Given the description of an element on the screen output the (x, y) to click on. 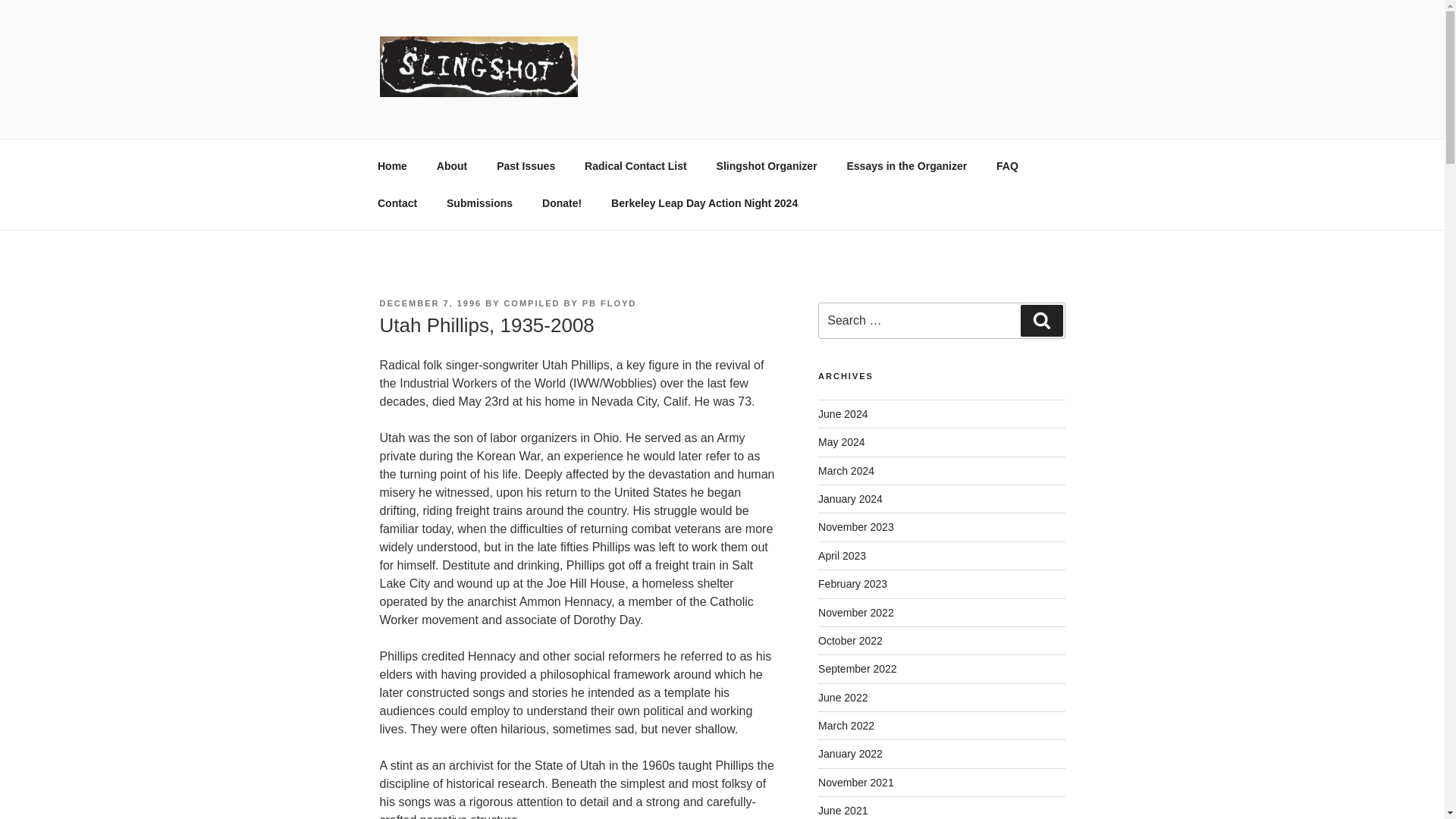
June 2022 (842, 697)
Berkeley Leap Day Action Night 2024 (704, 203)
June 2021 (842, 810)
May 2024 (841, 441)
FAQ (1008, 165)
Past Issues (526, 165)
Search (1041, 320)
DECEMBER 7, 1996 (429, 302)
Home (392, 165)
About (451, 165)
